Given the description of an element on the screen output the (x, y) to click on. 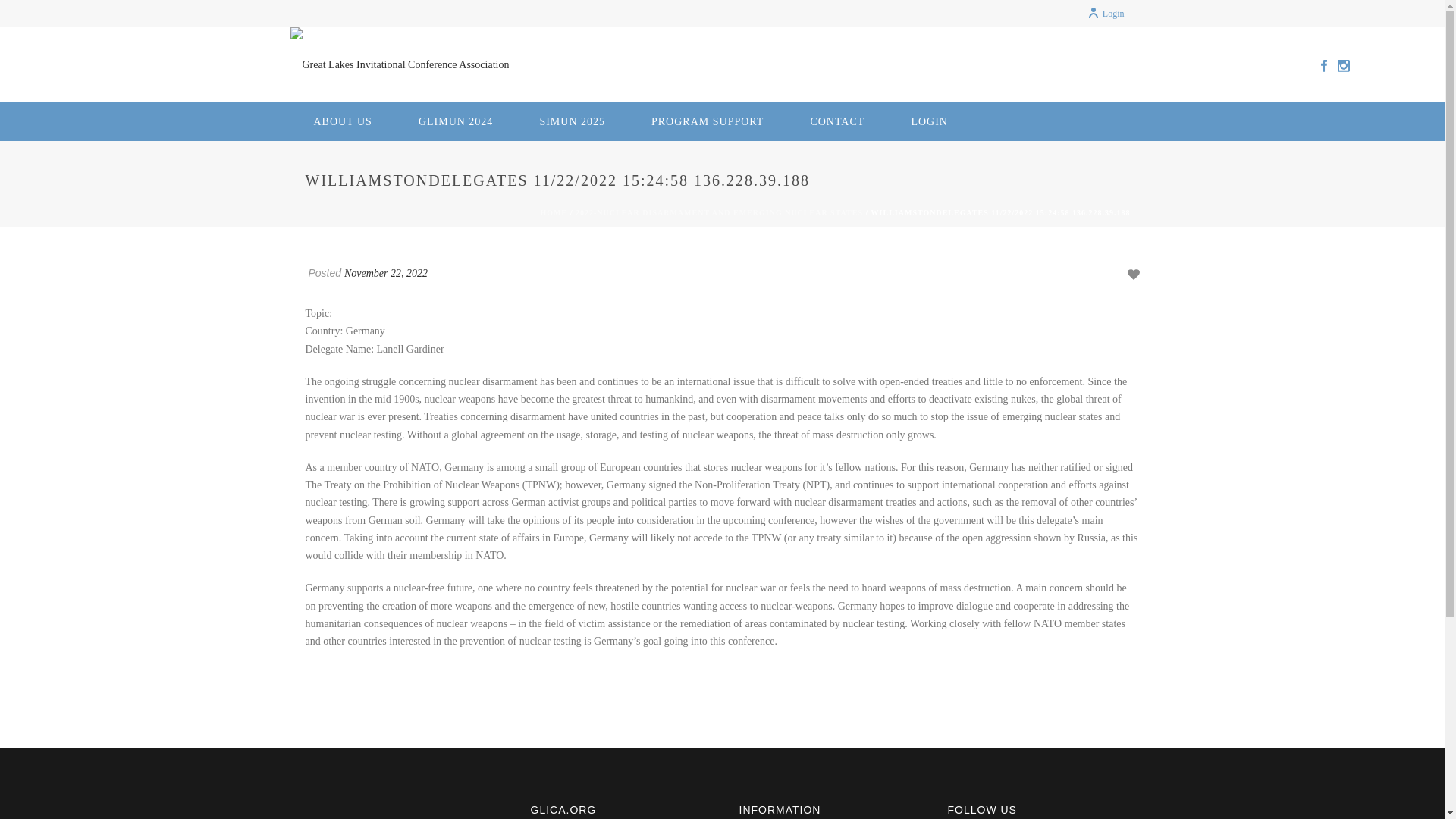
GLIMUN 2024 (456, 121)
LOGIN (929, 121)
GLICA.org (398, 65)
SIMUN 2025 (571, 121)
LOGIN (929, 121)
Login (1105, 13)
GLIMUN 2024 (456, 121)
SIMUN 2025 (571, 121)
ABOUT US (342, 121)
PROGRAM SUPPORT (707, 121)
